Given the description of an element on the screen output the (x, y) to click on. 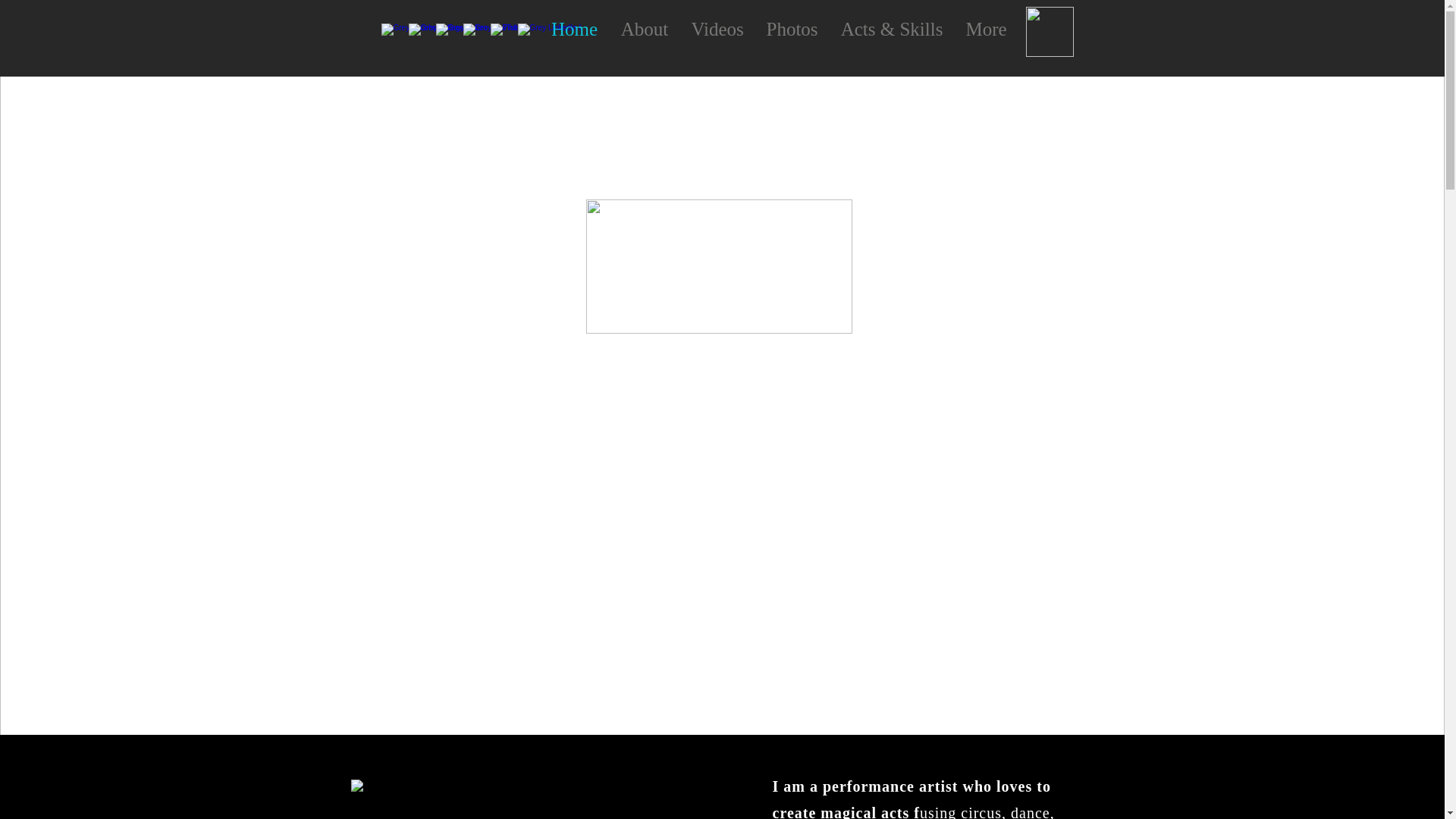
Home (575, 29)
Photos (792, 29)
Charlly clear logo W.PNG (718, 266)
About (644, 29)
Videos (716, 29)
Charlly Icon W.png (1049, 31)
